Given the description of an element on the screen output the (x, y) to click on. 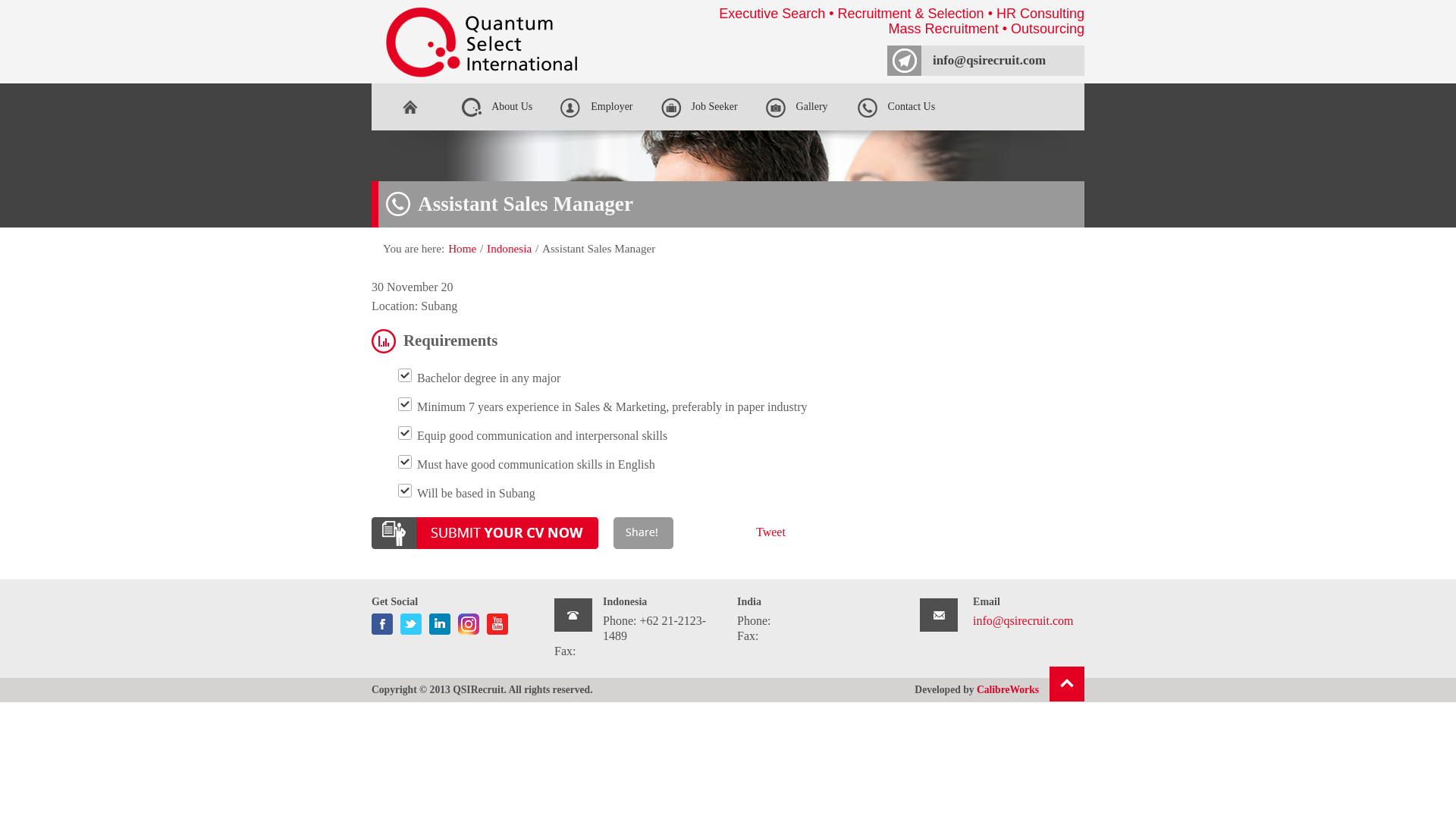
youtube (497, 620)
  Contact Us (899, 106)
Indonesia (508, 247)
  Employer (596, 106)
Return To Top (1066, 683)
linkedin (439, 620)
CalibreWorks (1007, 689)
View Home (462, 247)
Tweet (770, 531)
  Job Seeker (698, 106)
twitter (411, 620)
  Gallery (796, 106)
View all items in Indonesia (508, 247)
gplus (468, 620)
